Given the description of an element on the screen output the (x, y) to click on. 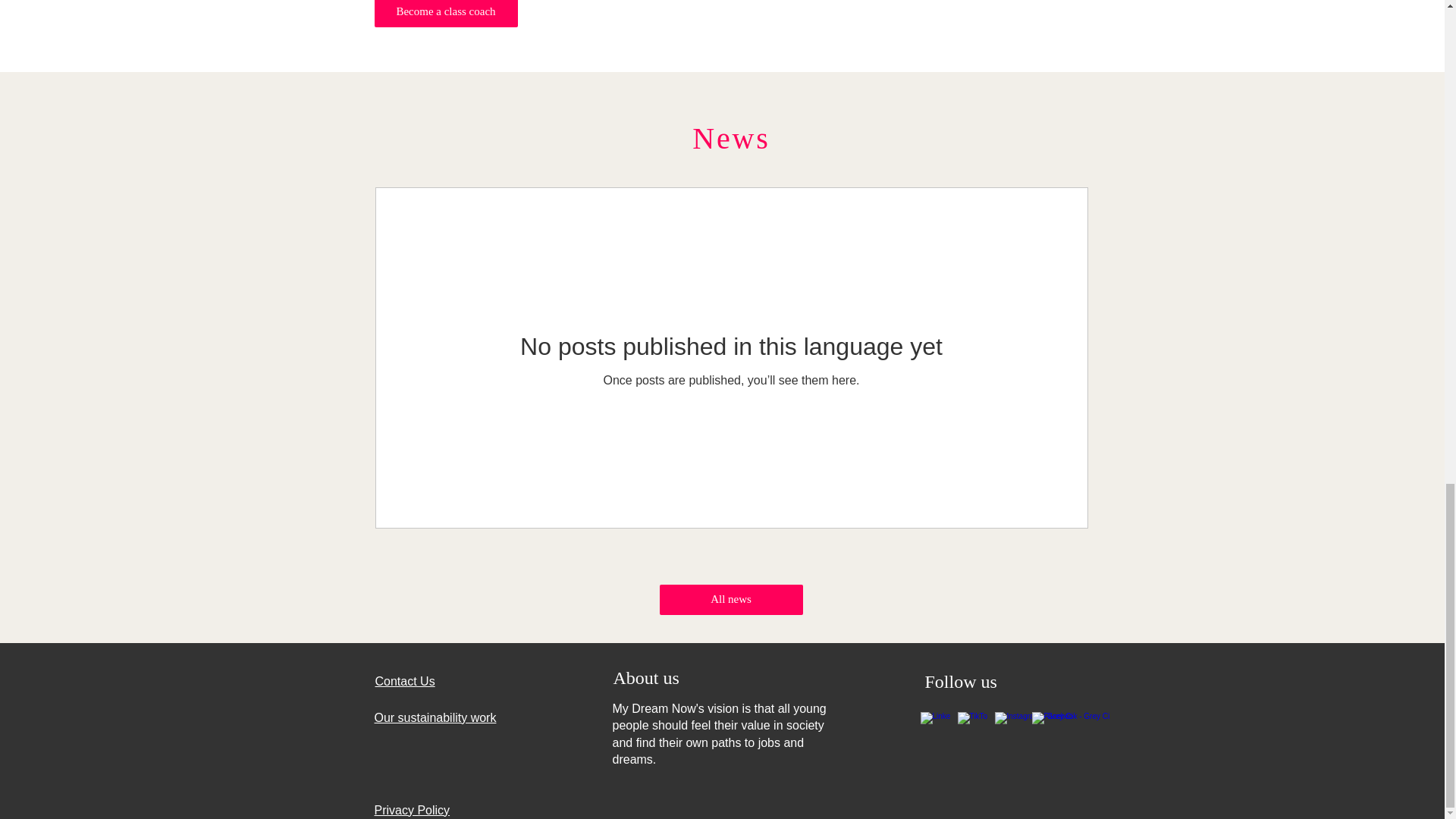
Contact Us (403, 680)
Become a class coach (446, 13)
Our sustainability work (435, 717)
All news (731, 599)
Privacy Policy (411, 809)
